Given the description of an element on the screen output the (x, y) to click on. 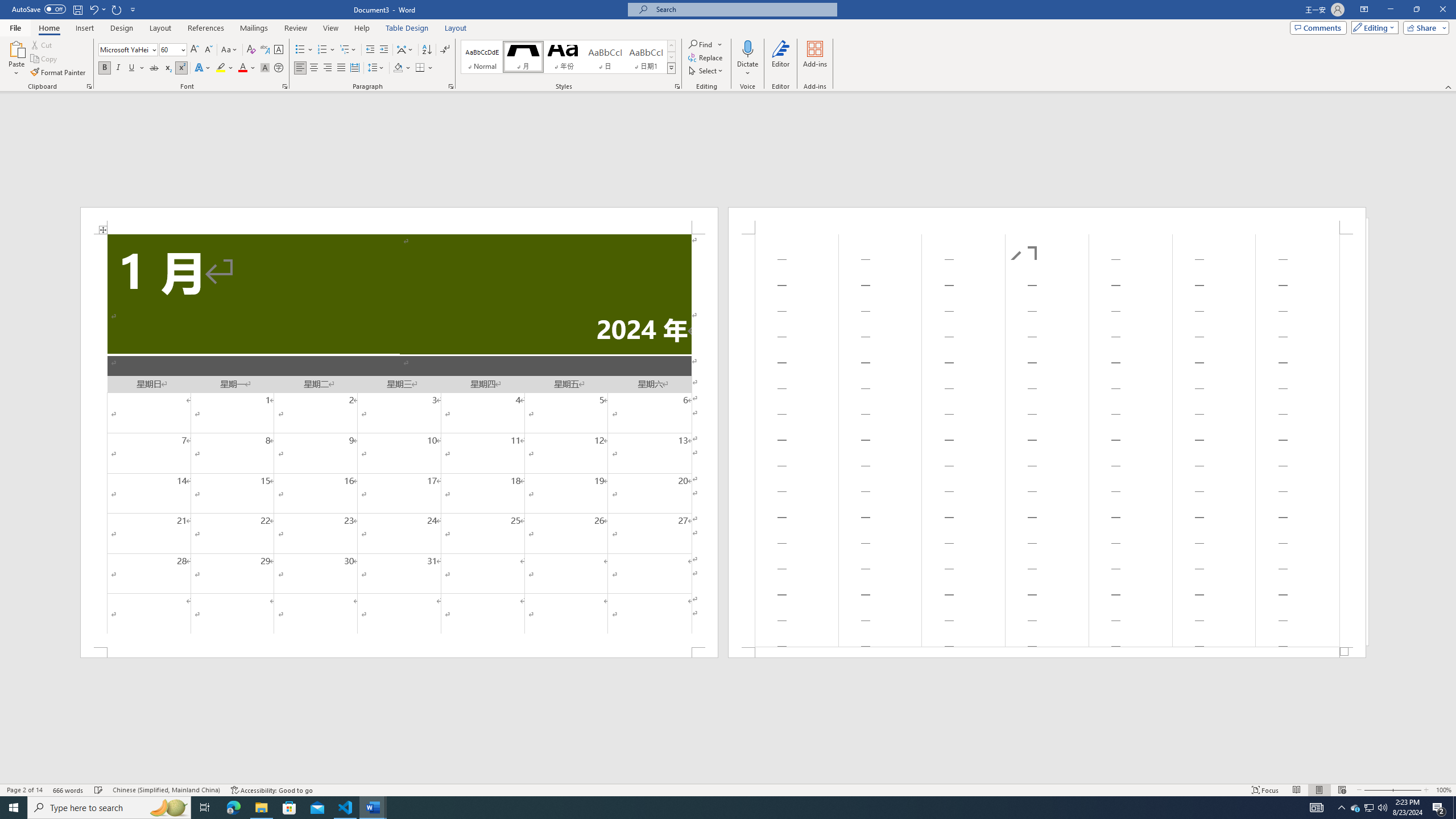
Review (295, 28)
Find (705, 44)
Open (182, 49)
More Options (747, 68)
Bold (104, 67)
Language Chinese (Simplified, Mainland China) (165, 790)
AutoSave (38, 9)
System (6, 6)
Select (705, 69)
References (205, 28)
Zoom Out (1377, 790)
Paste (16, 58)
Row Down (670, 56)
